Given the description of an element on the screen output the (x, y) to click on. 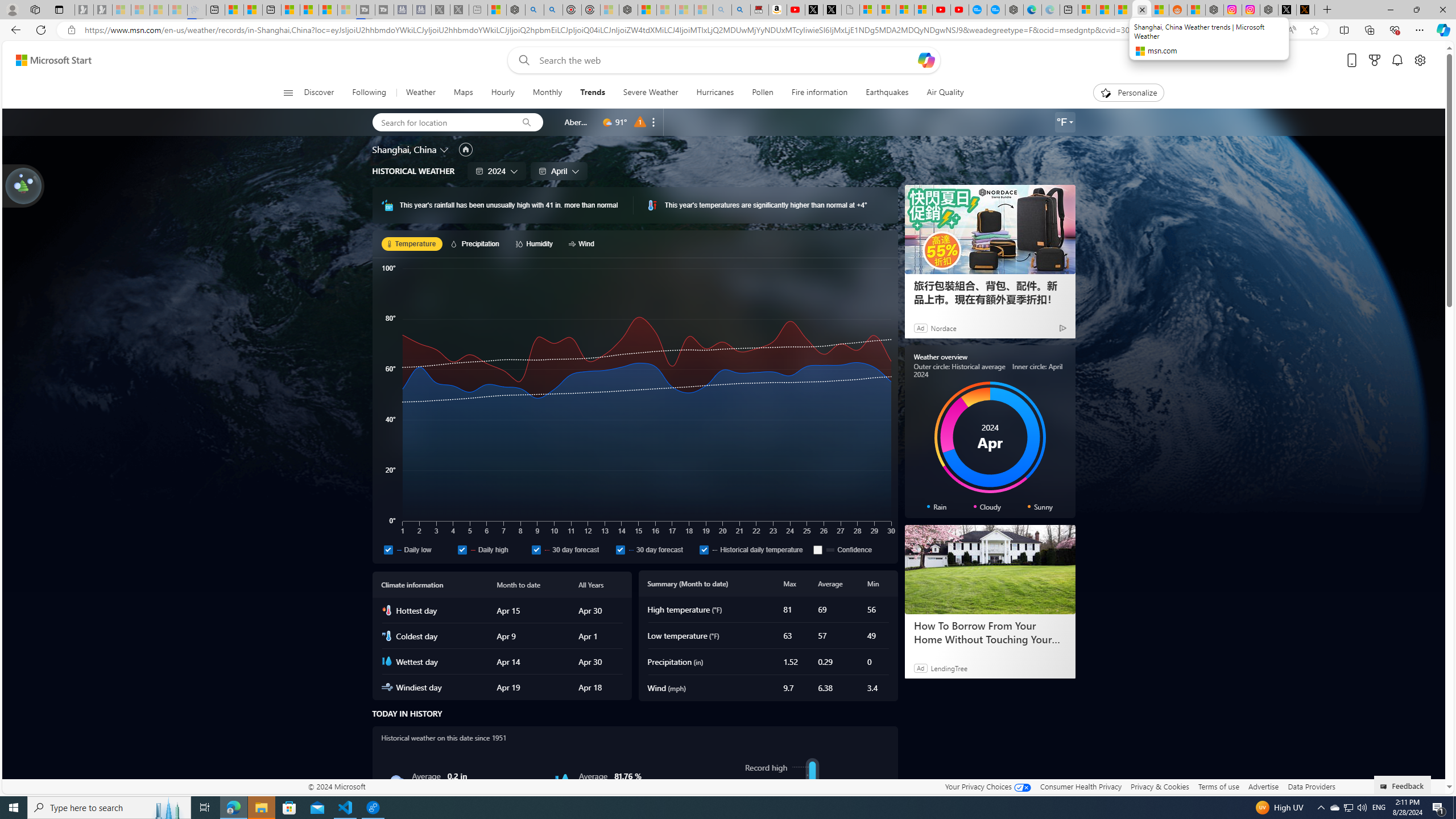
Privacy & Cookies (1160, 786)
Shanghai, China hourly forecast | Microsoft Weather (1123, 9)
Monthly (547, 92)
Air Quality (944, 92)
poe - Search (533, 9)
